Given the description of an element on the screen output the (x, y) to click on. 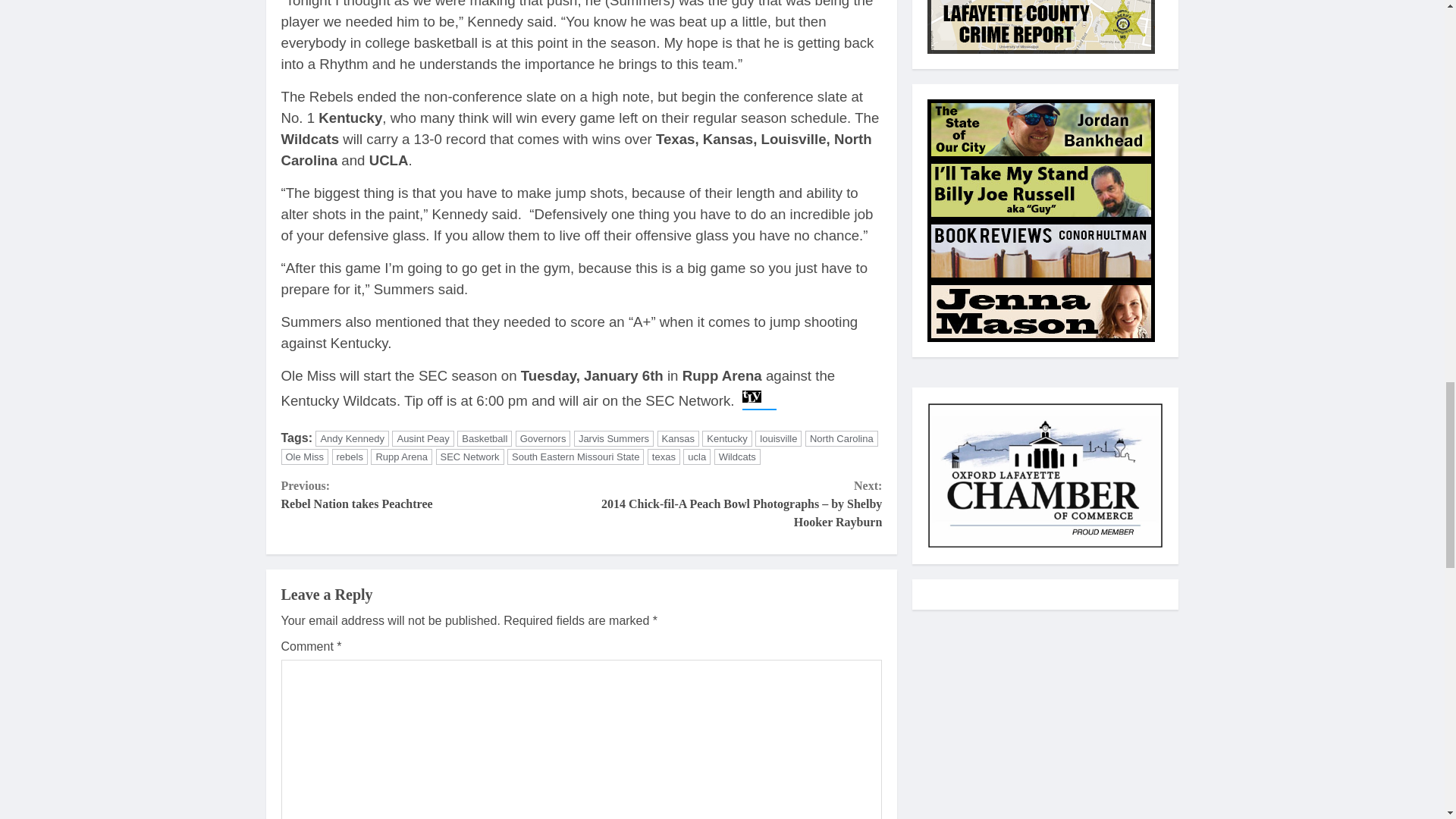
texas (663, 456)
South Eastern Missouri State (574, 456)
North Carolina (841, 438)
Kentucky (726, 438)
Wildcats (737, 456)
Ole Miss (305, 456)
Andy Kennedy (351, 438)
SEC Network (469, 456)
louisville (430, 494)
Rupp Arena (778, 438)
Ausint Peay (401, 456)
Governors (421, 438)
Basketball (542, 438)
Kansas (484, 438)
